Given the description of an element on the screen output the (x, y) to click on. 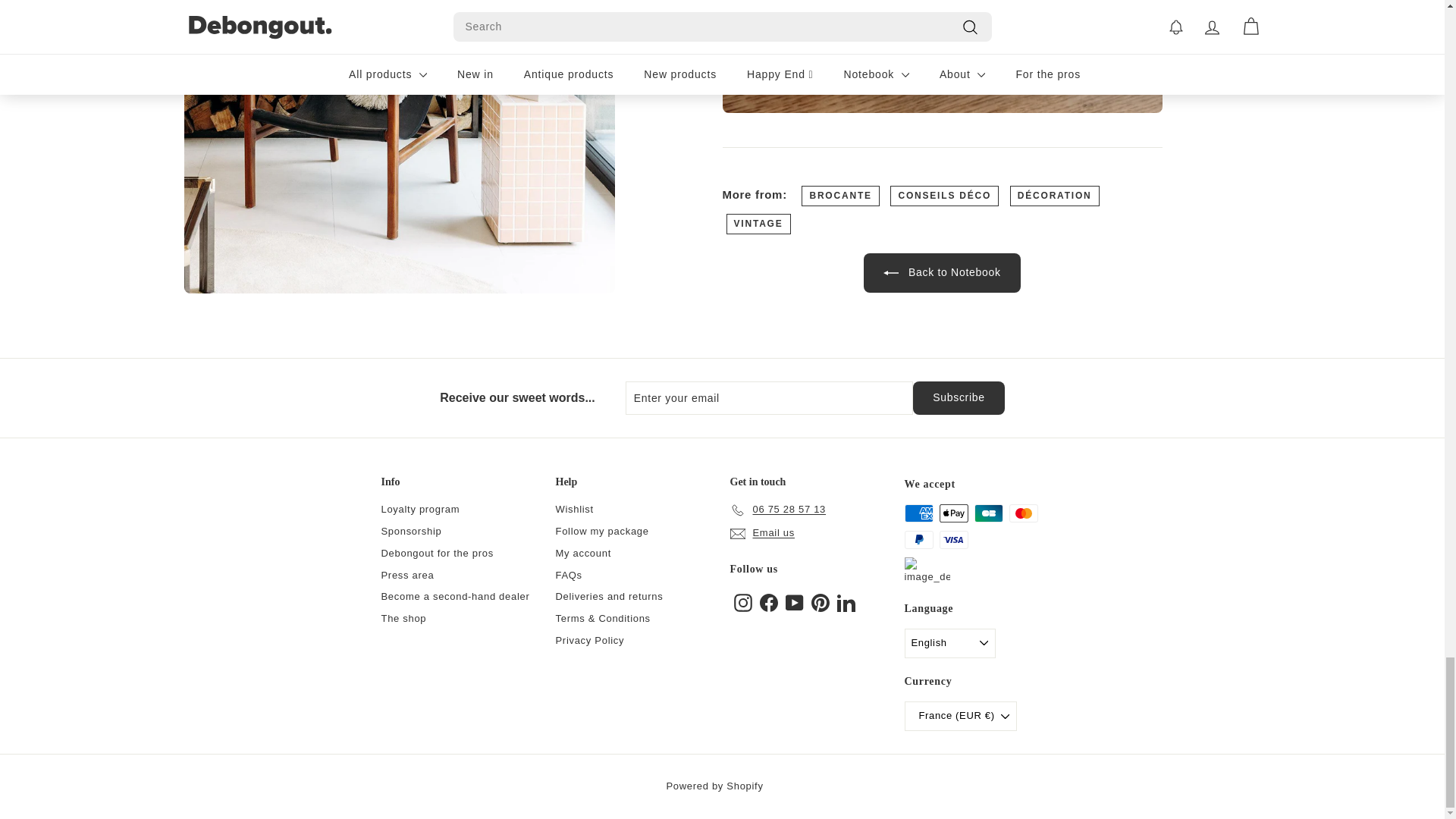
Apple Pay (953, 513)
Mastercard (1022, 513)
Cartes Bancaires (988, 513)
instagram (742, 602)
American Express (918, 513)
